Given the description of an element on the screen output the (x, y) to click on. 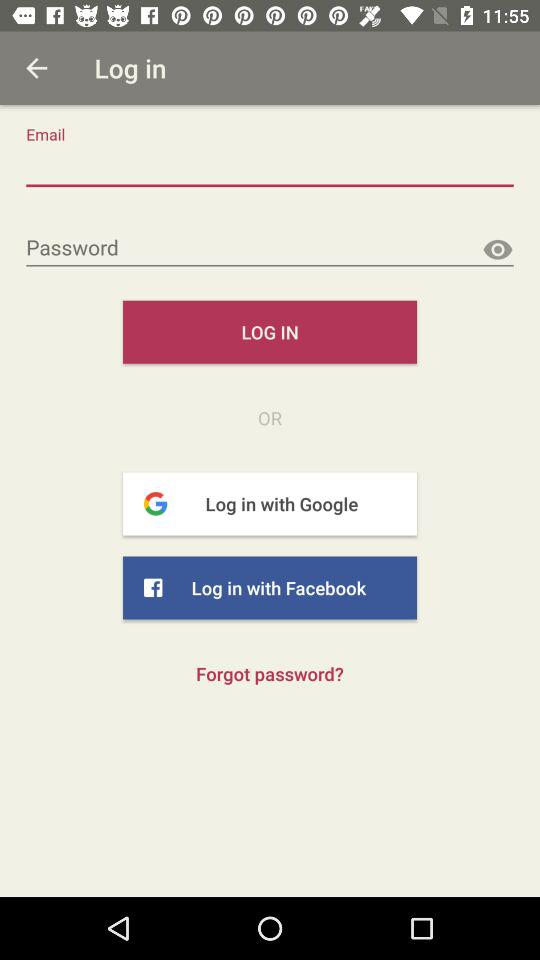
visible password (498, 249)
